Given the description of an element on the screen output the (x, y) to click on. 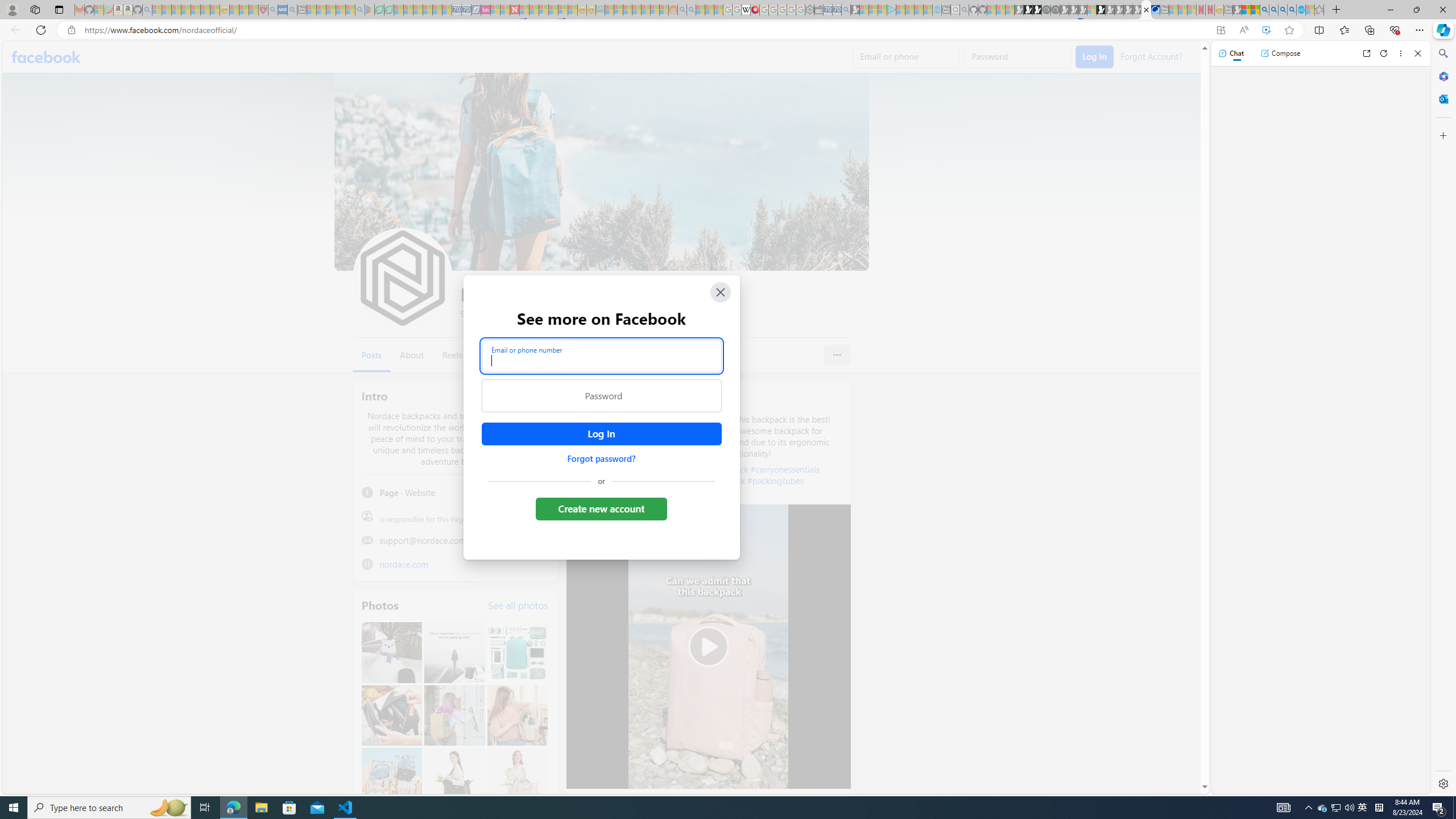
2009 Bing officially replaced Live Search on June 3 - Search (1272, 9)
Forgot password? (601, 458)
Email or phone number (600, 355)
MediaWiki (754, 9)
Accessible login button (601, 433)
AirNow.gov (1154, 9)
